Given the description of an element on the screen output the (x, y) to click on. 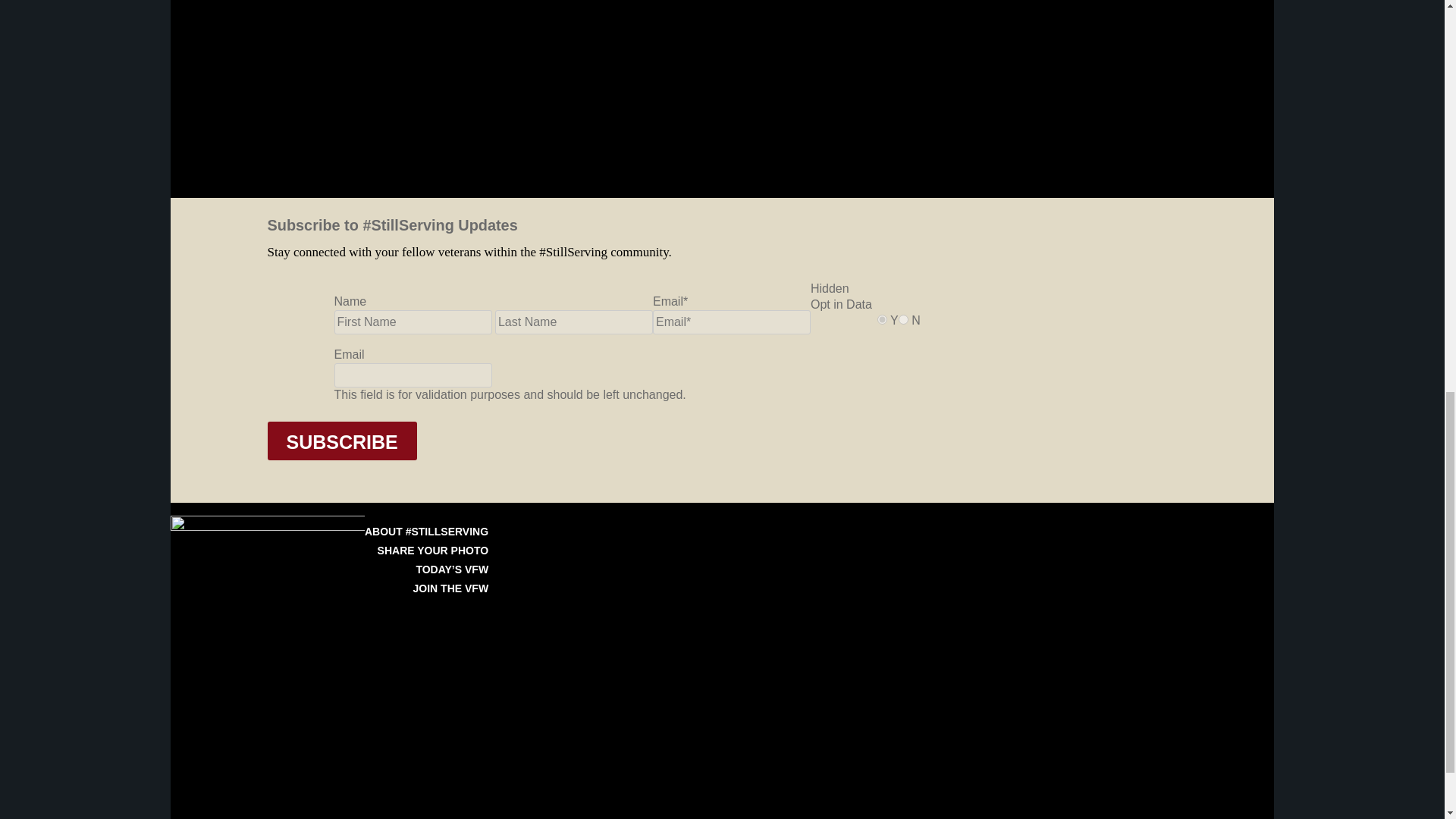
Y (881, 319)
SUBSCRIBE (341, 440)
N (903, 319)
SHARE YOUR PHOTO (433, 550)
SUBSCRIBE (341, 440)
JOIN THE VFW (451, 588)
